Given the description of an element on the screen output the (x, y) to click on. 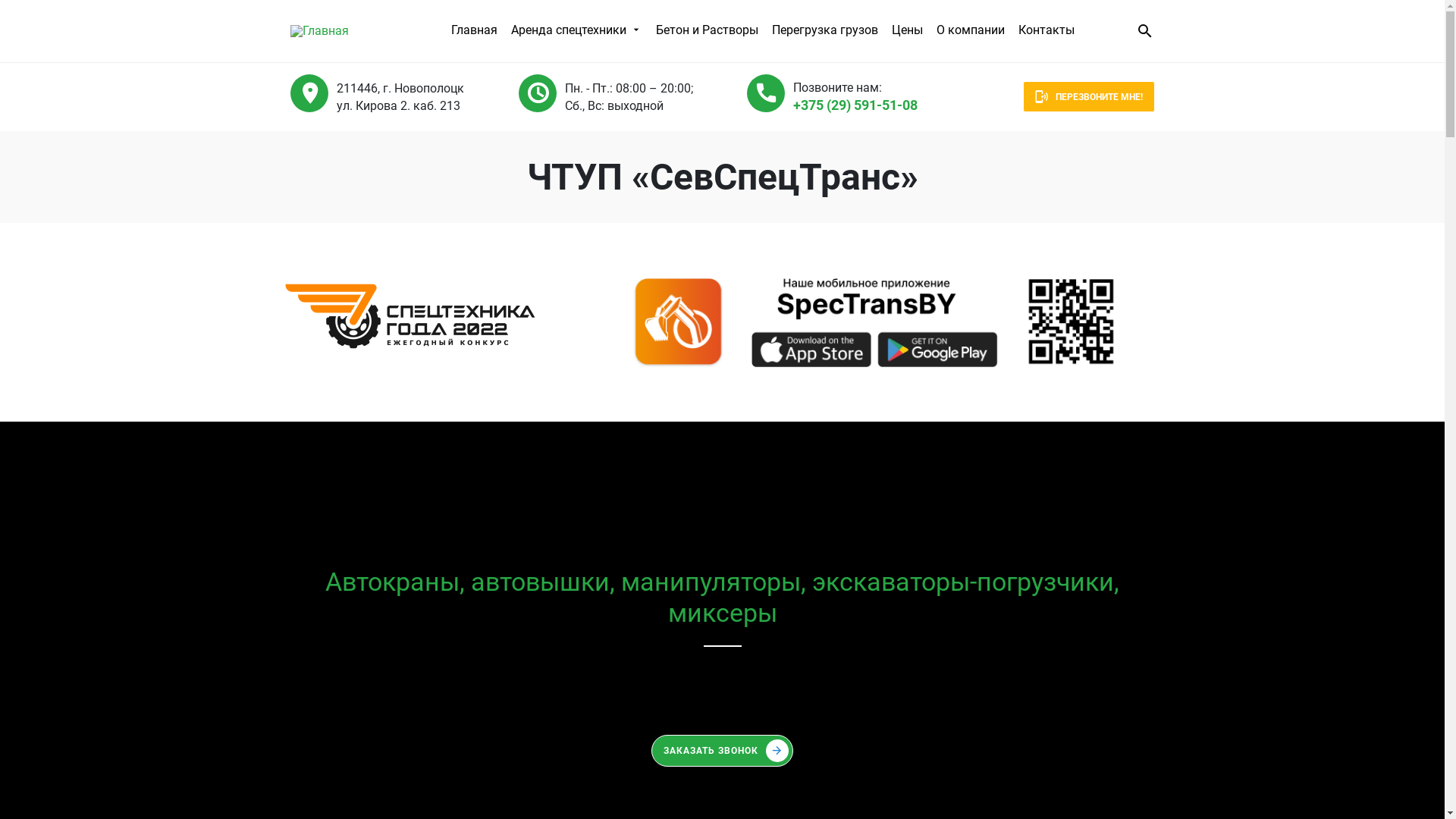
+375 (29) 591-51-08 Element type: text (722, 681)
+375 (29) 591-51-08 Element type: text (855, 104)
